Given the description of an element on the screen output the (x, y) to click on. 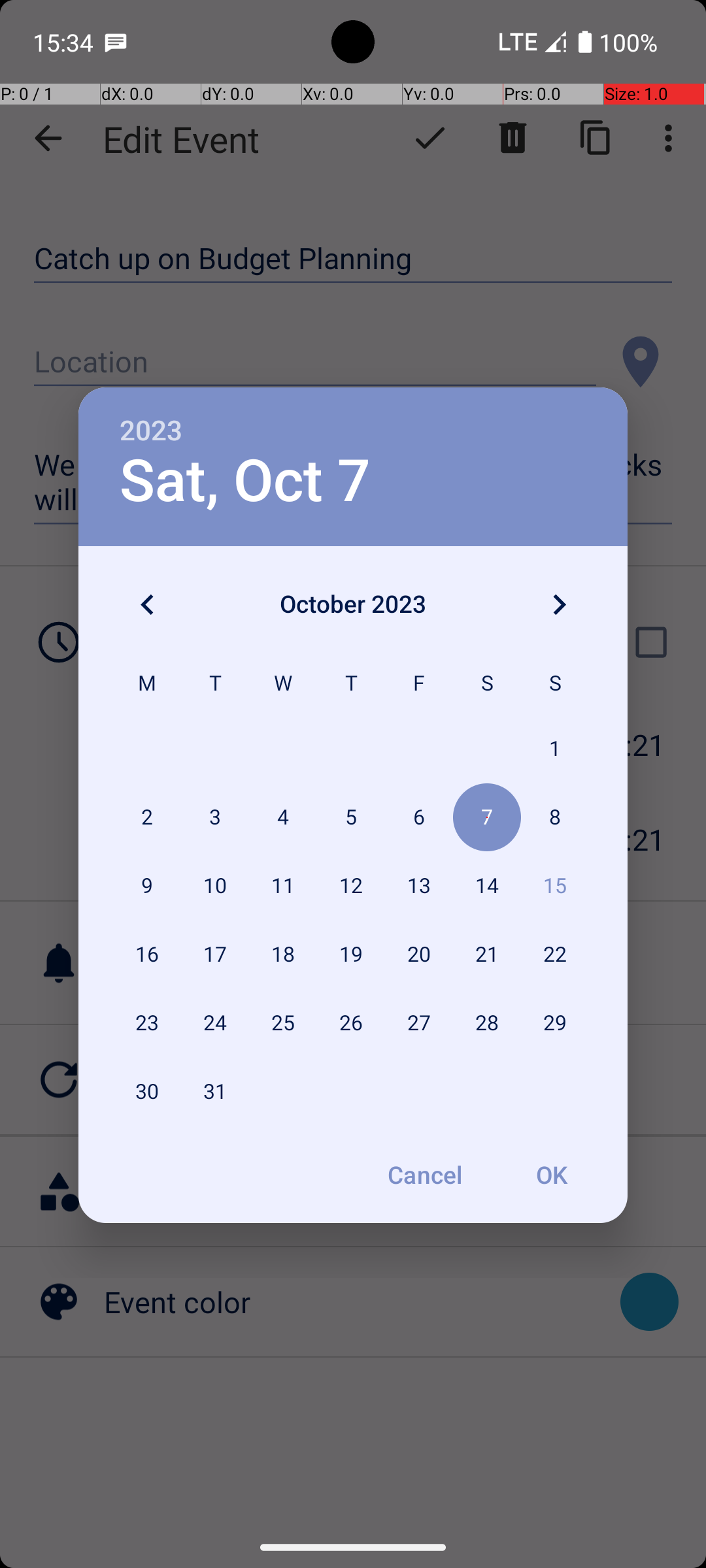
Sat, Oct 7 Element type: android.widget.TextView (244, 480)
